Given the description of an element on the screen output the (x, y) to click on. 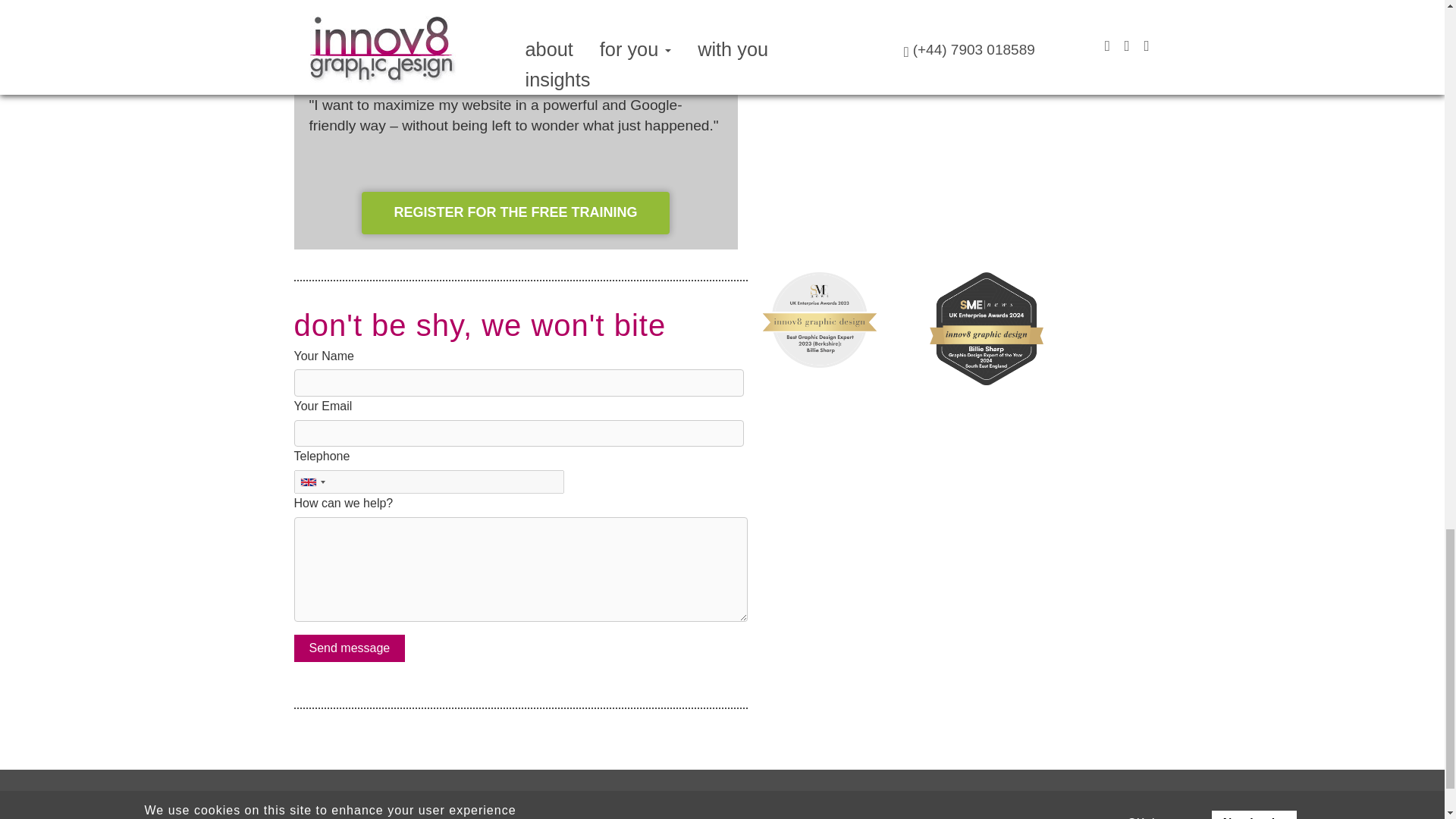
Send message (350, 647)
insights (432, 814)
REGISTER FOR THE FREE TRAINING (514, 212)
website (504, 814)
email (570, 814)
Send message (350, 647)
